Given the description of an element on the screen output the (x, y) to click on. 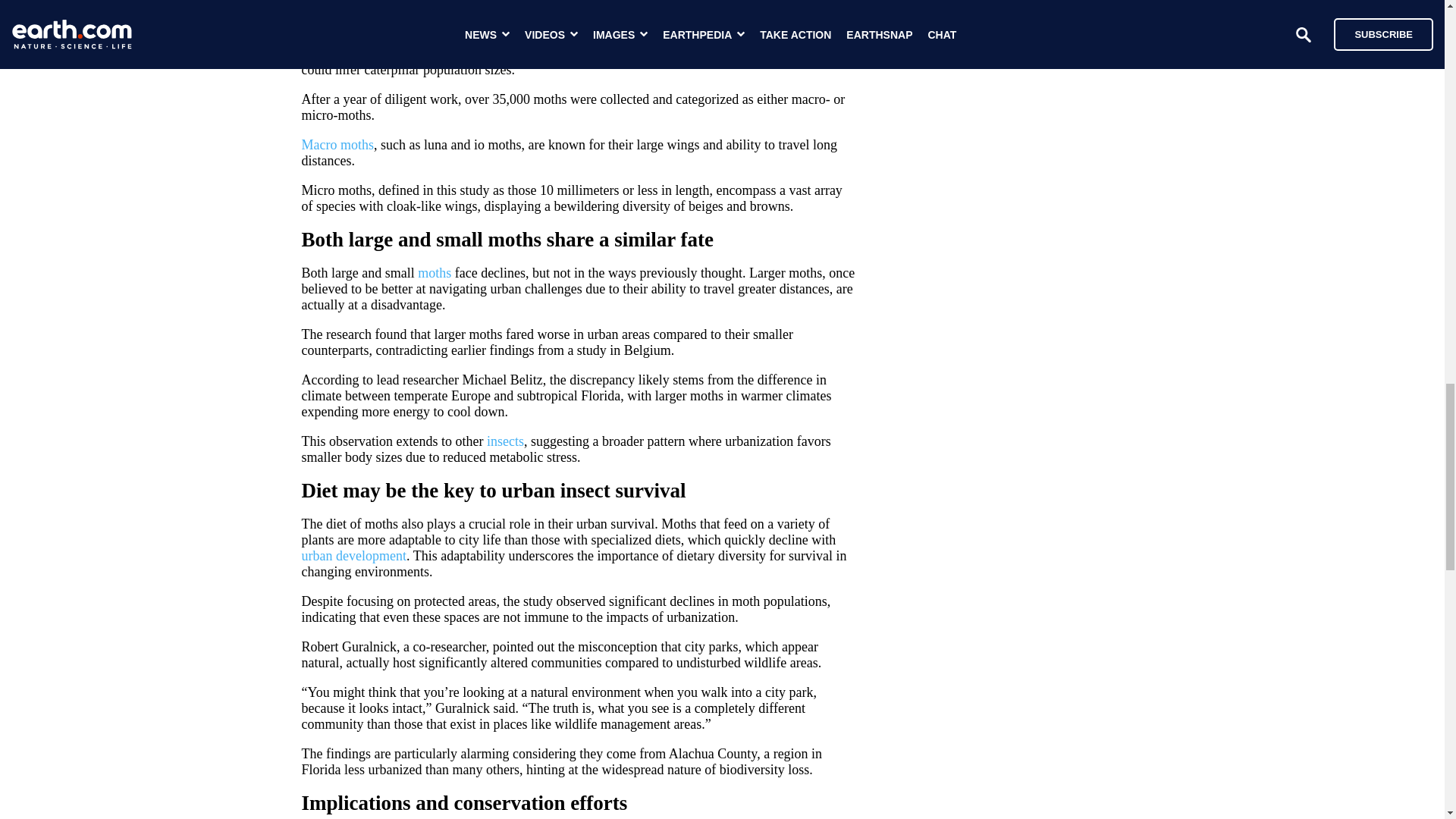
urban development (353, 555)
moths (434, 272)
Macro moths (337, 144)
insects (505, 441)
